Given the description of an element on the screen output the (x, y) to click on. 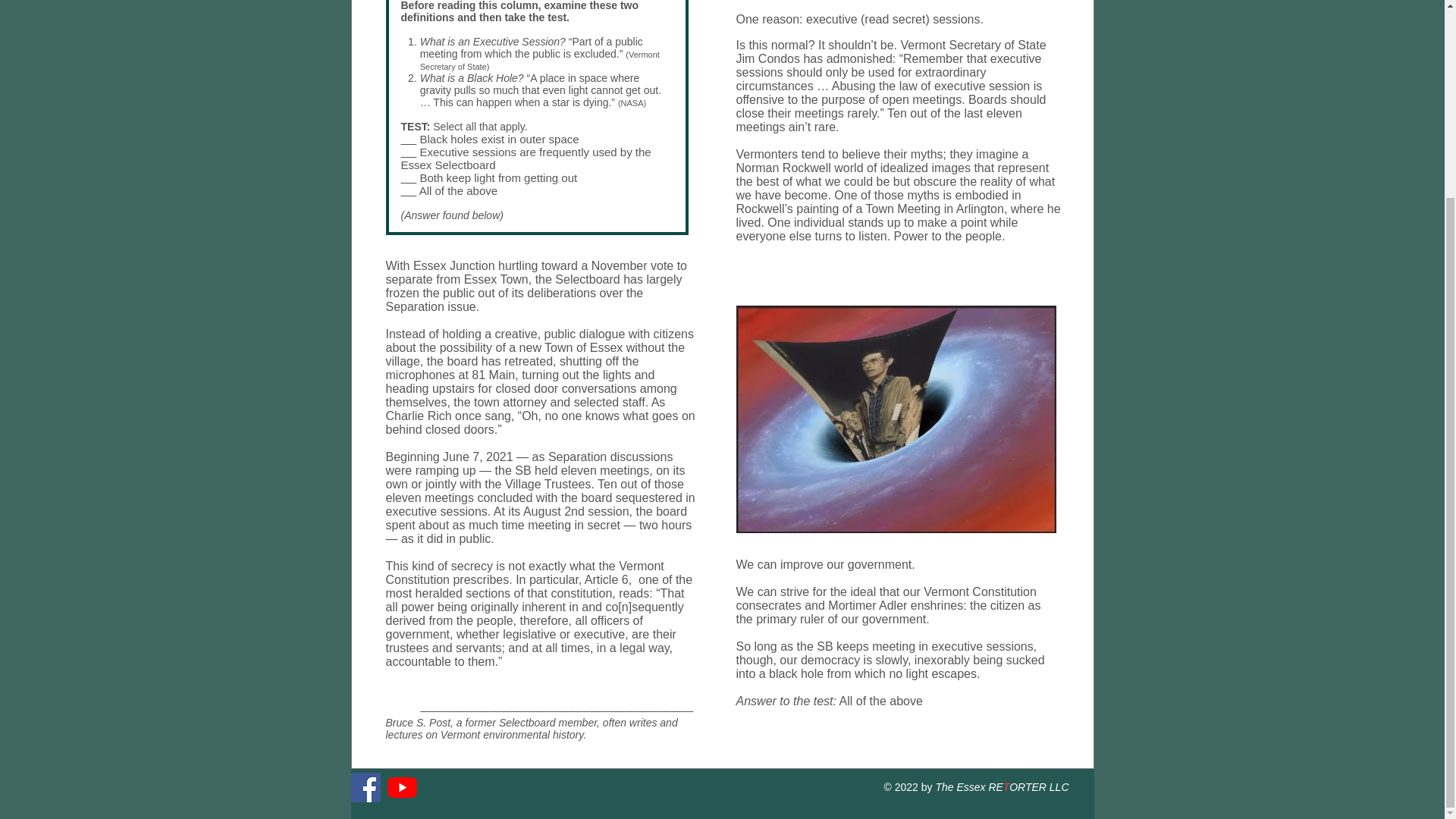
The Essex RE (968, 787)
ORTER LLC (1038, 787)
